Given the description of an element on the screen output the (x, y) to click on. 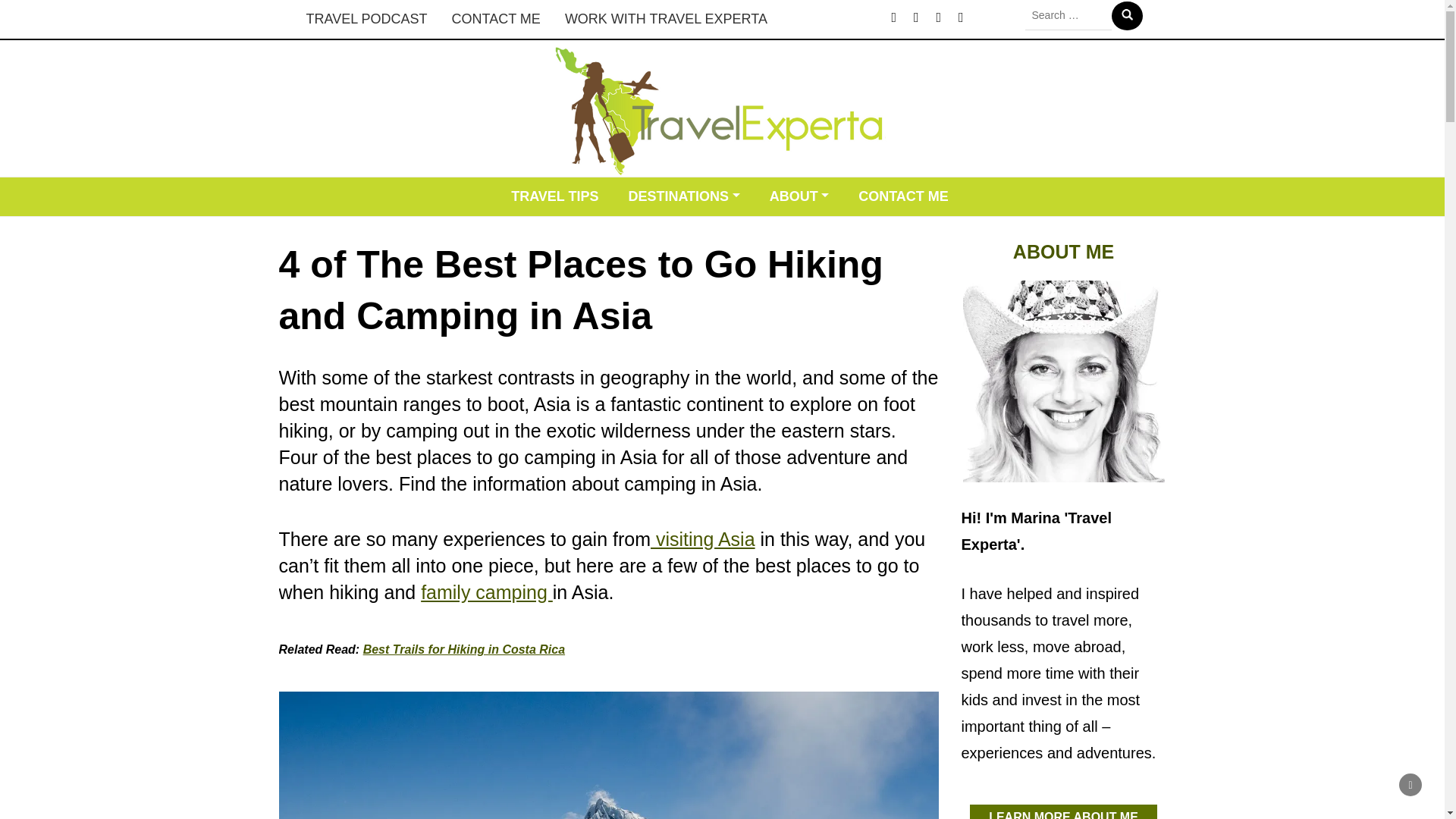
Search for: (1068, 15)
Search (1126, 15)
Search (1126, 15)
WORK WITH TRAVEL EXPERTA (665, 19)
CONTACT ME (902, 196)
CONTACT ME (496, 19)
TRAVEL TIPS (554, 196)
ABOUT (799, 196)
DESTINATIONS (683, 196)
Search (1126, 15)
TRAVEL PODCAST (366, 19)
4 of The Best Places to Go Hiking and Camping in Asia (609, 755)
